Given the description of an element on the screen output the (x, y) to click on. 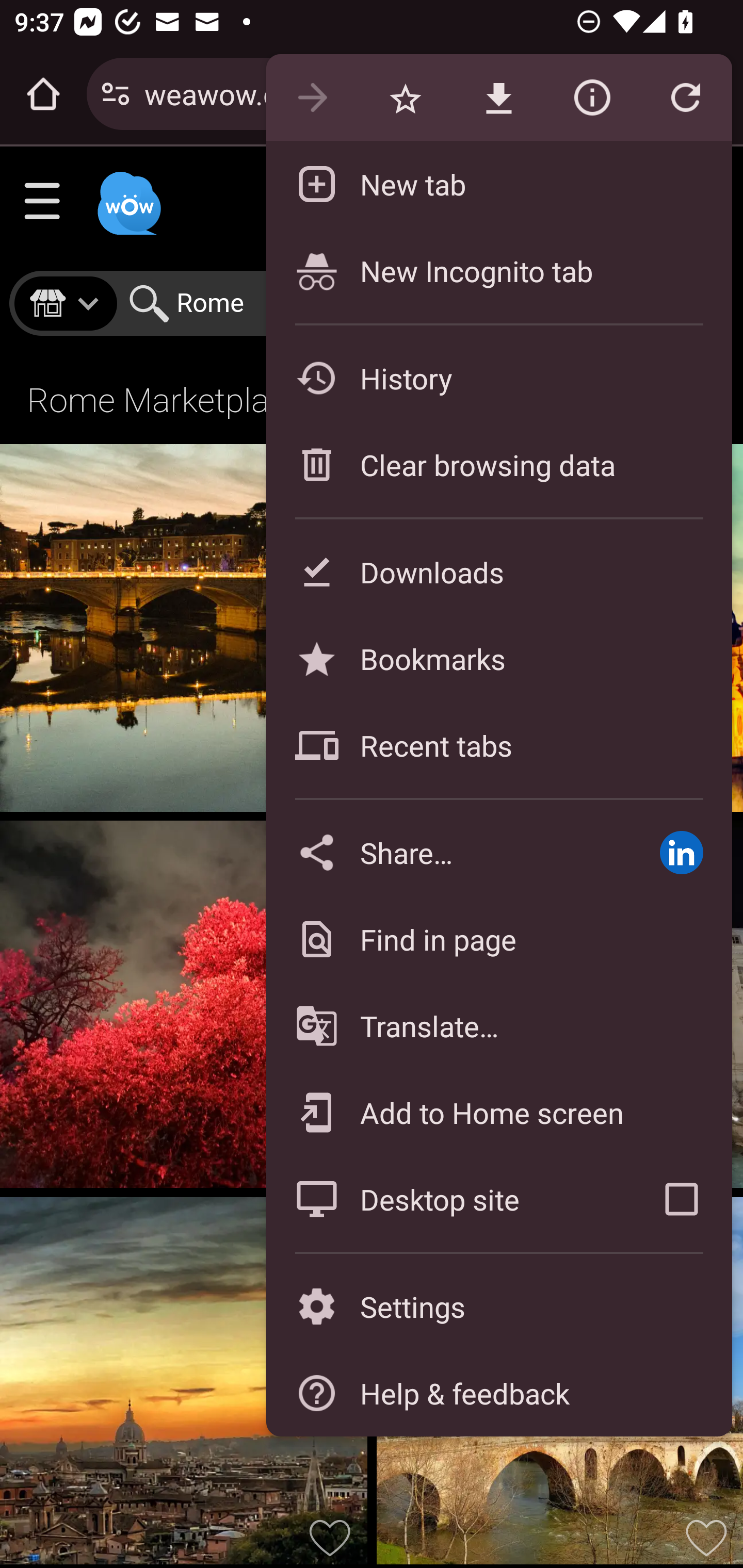
Forward (311, 97)
Bookmark (404, 97)
Download (498, 97)
Page info (591, 97)
Refresh (684, 97)
New tab (498, 184)
New Incognito tab (498, 270)
History (498, 377)
Clear browsing data (498, 464)
Downloads (498, 571)
Bookmarks (498, 658)
Recent tabs (498, 745)
Share… (447, 852)
Share via Share in a post (680, 852)
Find in page (498, 939)
Translate… (498, 1026)
Add to Home screen (498, 1112)
Desktop site Turn on Request desktop site (447, 1198)
Settings (498, 1306)
Help & feedback (498, 1393)
